Given the description of an element on the screen output the (x, y) to click on. 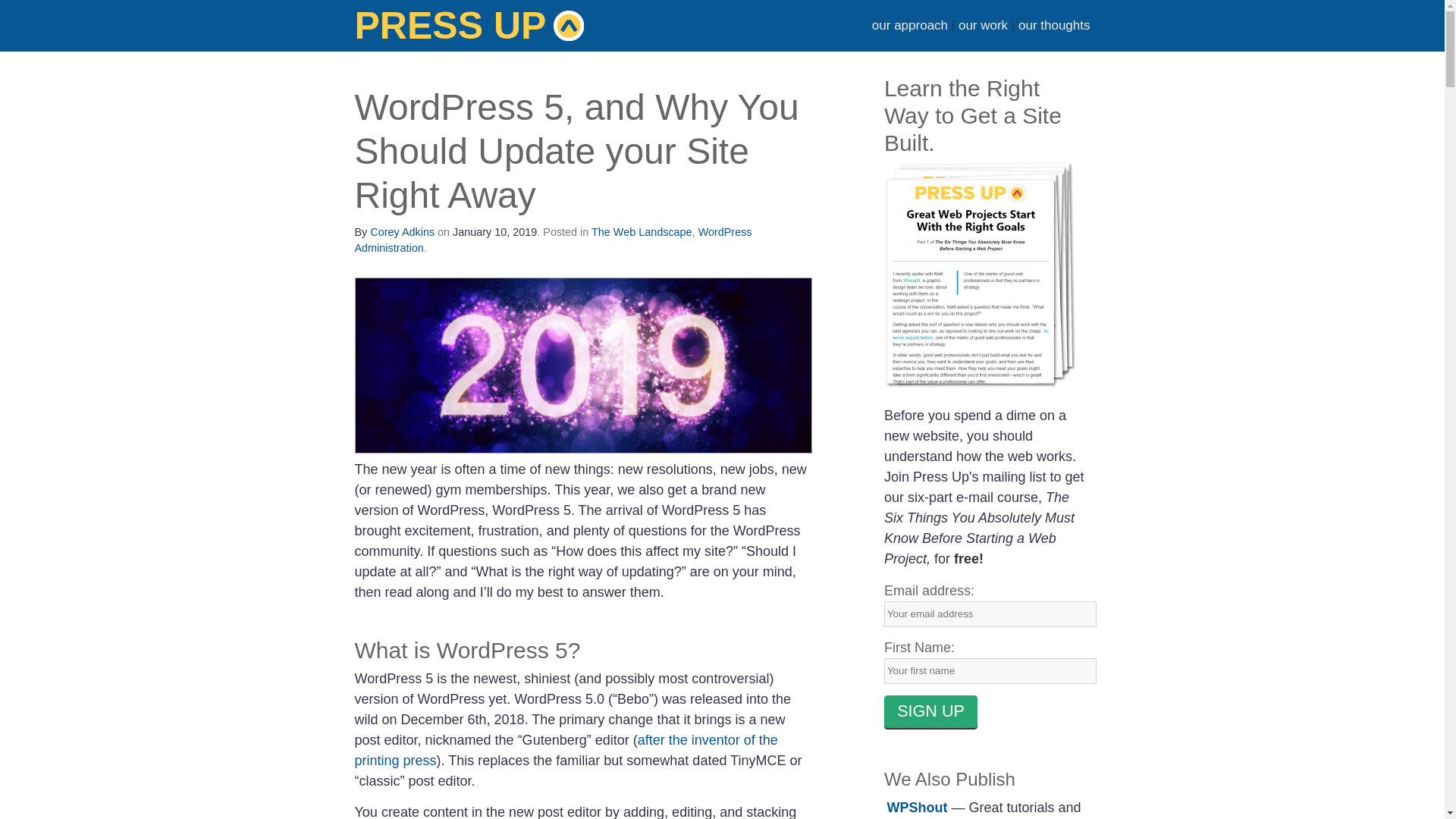
WPShout (916, 807)
Press Up (470, 51)
our thoughts (1053, 25)
our approach (909, 25)
10:00 am (494, 232)
our work (982, 25)
Sign up (929, 711)
Sign up (929, 711)
PRESS UP (470, 51)
January 10, 2019 (494, 232)
